Given the description of an element on the screen output the (x, y) to click on. 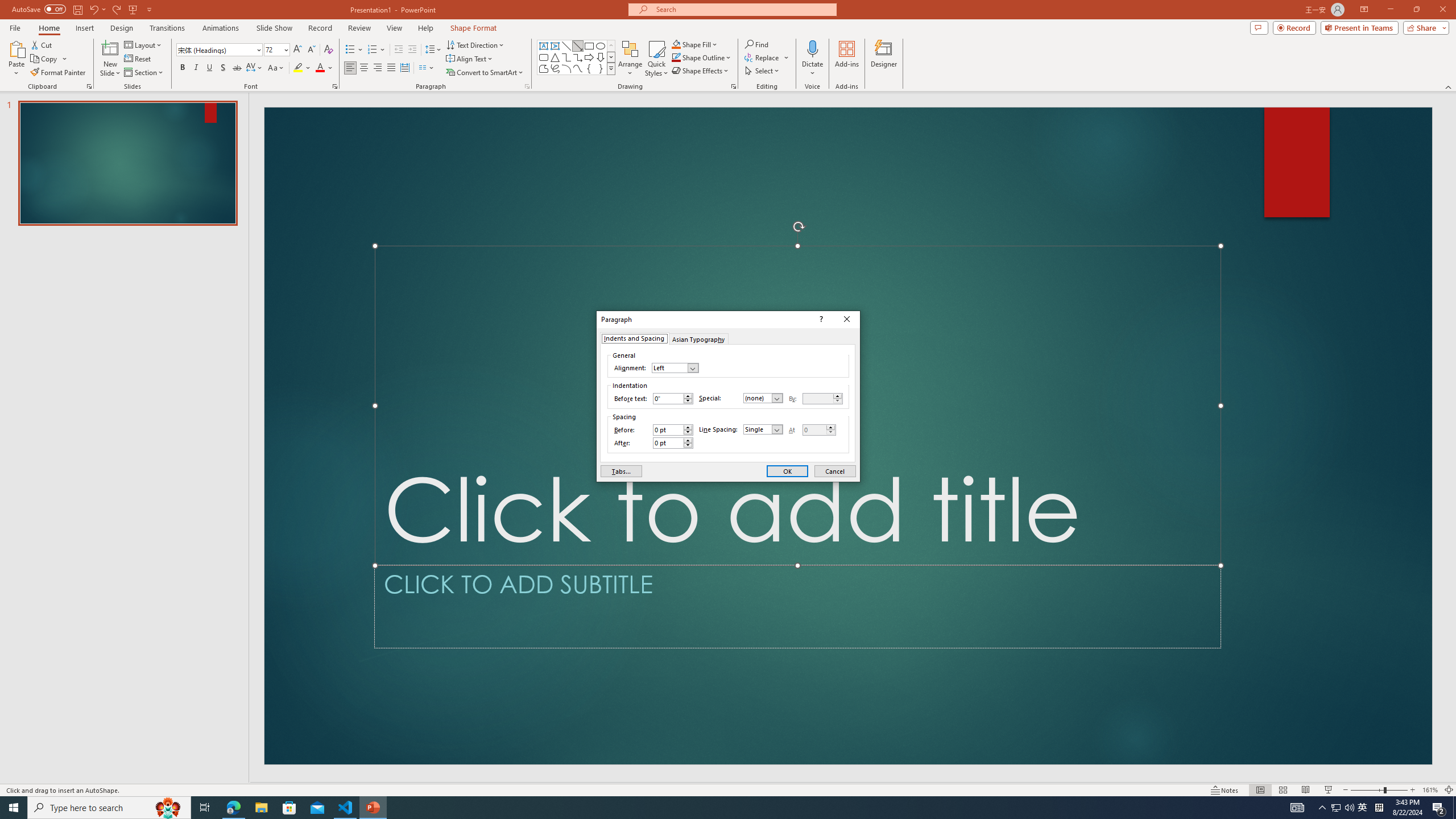
Before text (672, 398)
